Given the description of an element on the screen output the (x, y) to click on. 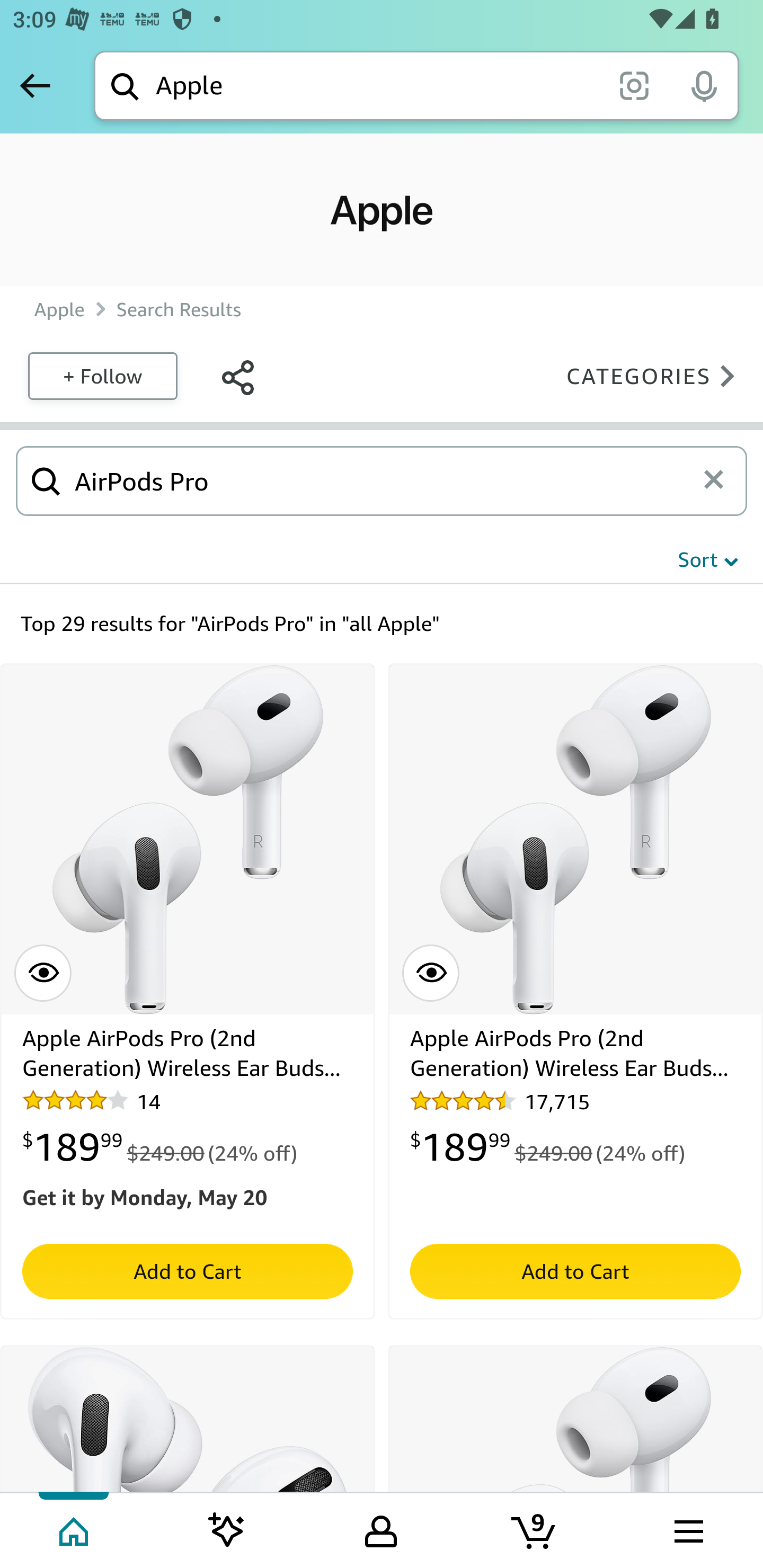
Back (35, 85)
scan it (633, 85)
Apple (59, 309)
Search Results (178, 309)
Share (237, 375)
Follow Apple (101, 375)
CATEGORIES (656, 375)
AirPods Pro (384, 480)
Search (45, 480)
Clear (719, 480)
Sort  Arrow Down (708, 559)
Quick look (42, 973)
